Given the description of an element on the screen output the (x, y) to click on. 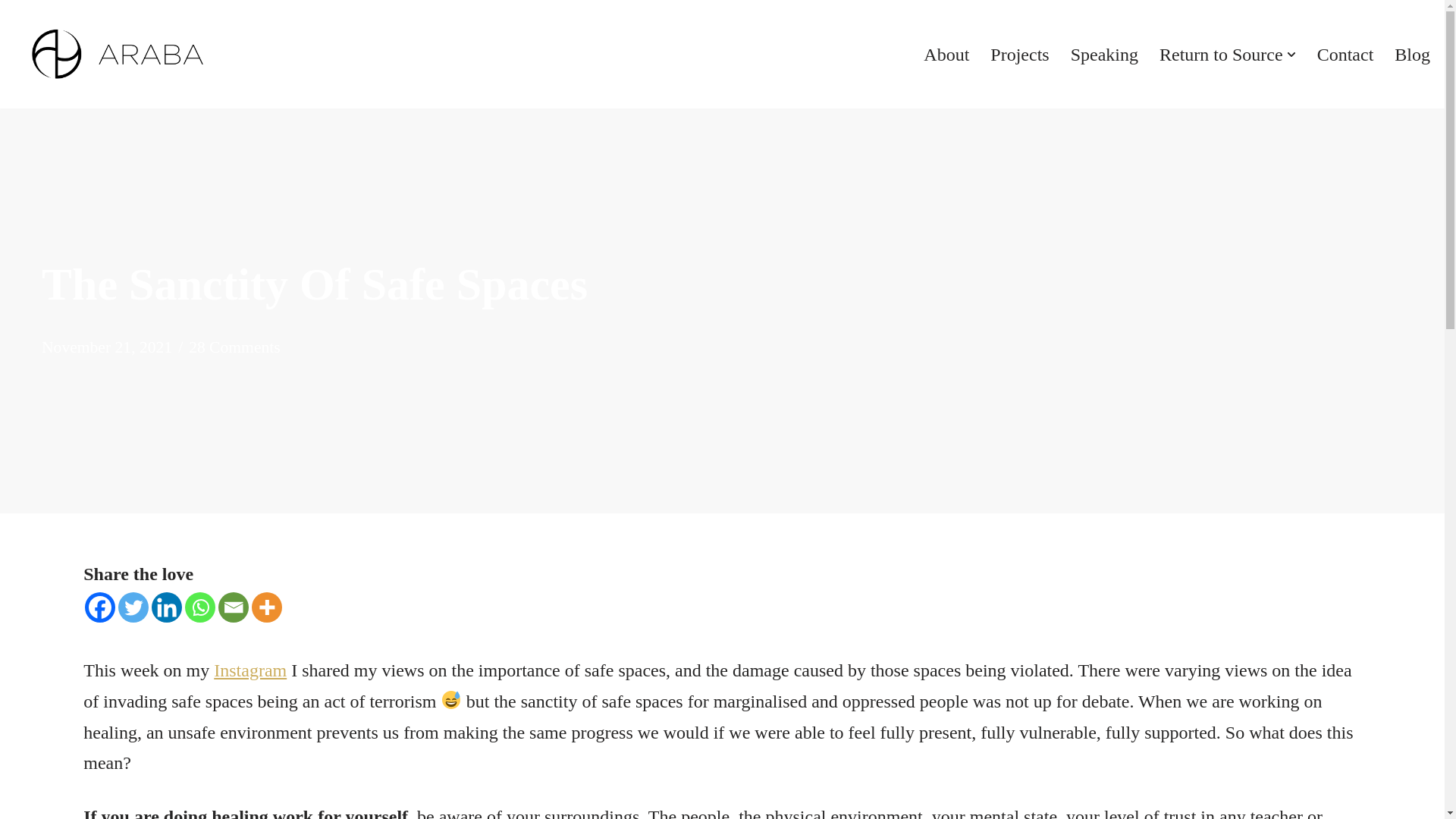
Instagram (250, 670)
Email (233, 607)
Linkedin (166, 607)
Twitter (132, 607)
More (266, 607)
About (946, 53)
Whatsapp (199, 607)
Blog (1411, 53)
28 Comments (235, 347)
Contact (1345, 53)
Speaking (1104, 53)
Projects (1019, 53)
Return to Source (1220, 53)
Skip to content (11, 31)
